Given the description of an element on the screen output the (x, y) to click on. 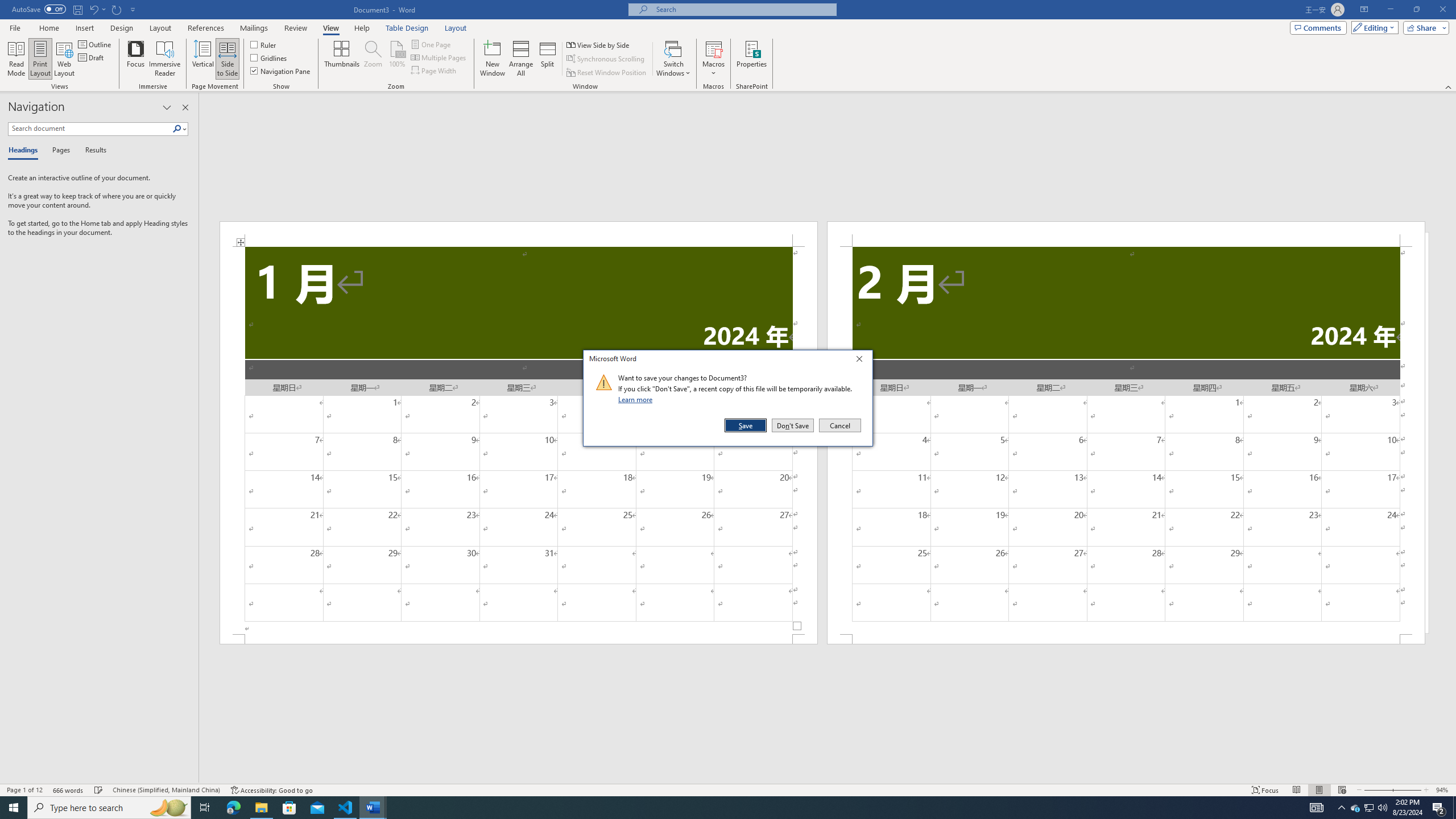
100% (396, 58)
Header -Section 2- (1126, 233)
Zoom... (372, 58)
View Macros (713, 48)
